Given the description of an element on the screen output the (x, y) to click on. 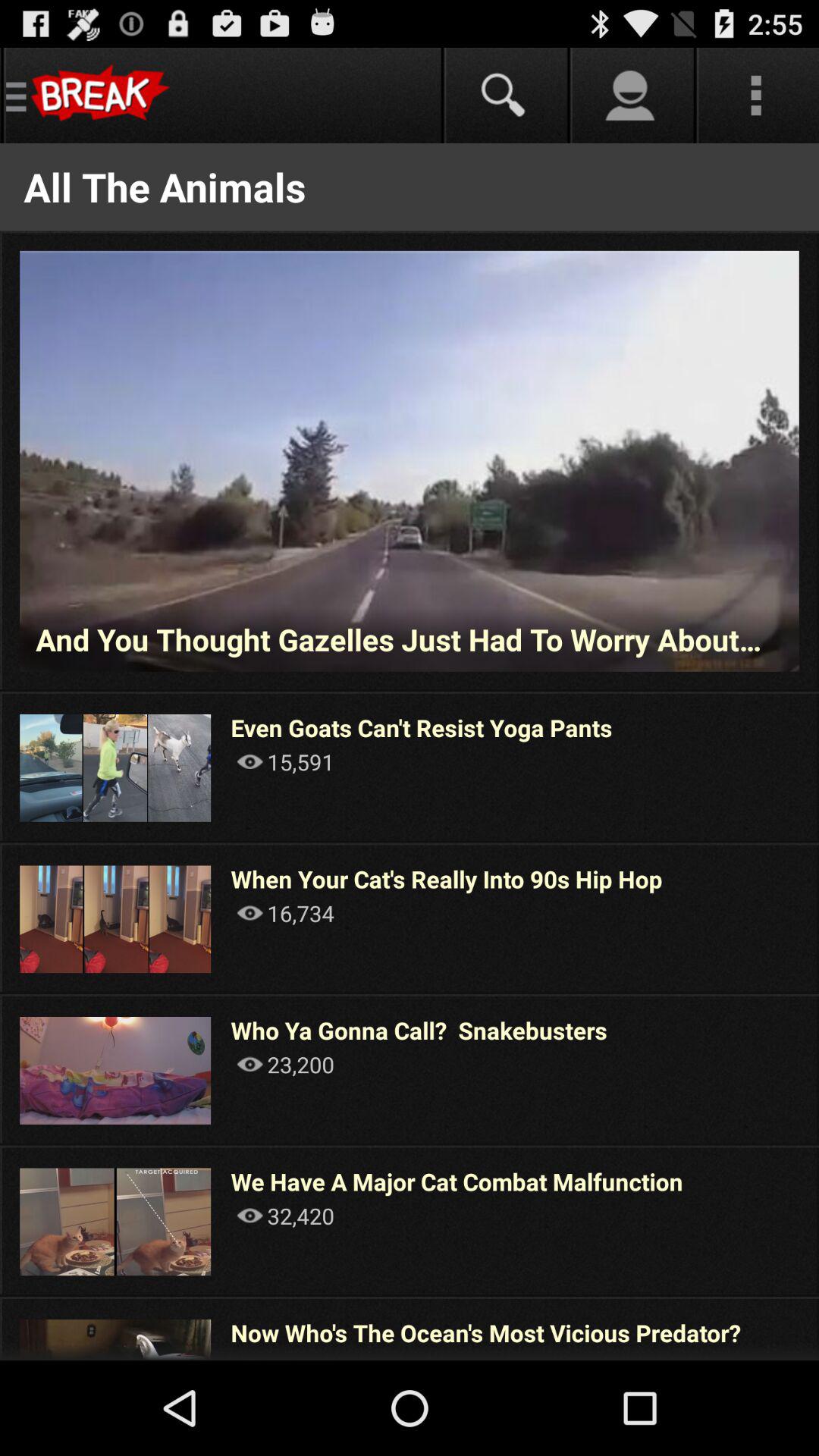
click the app above 23,200 app (418, 1030)
